Given the description of an element on the screen output the (x, y) to click on. 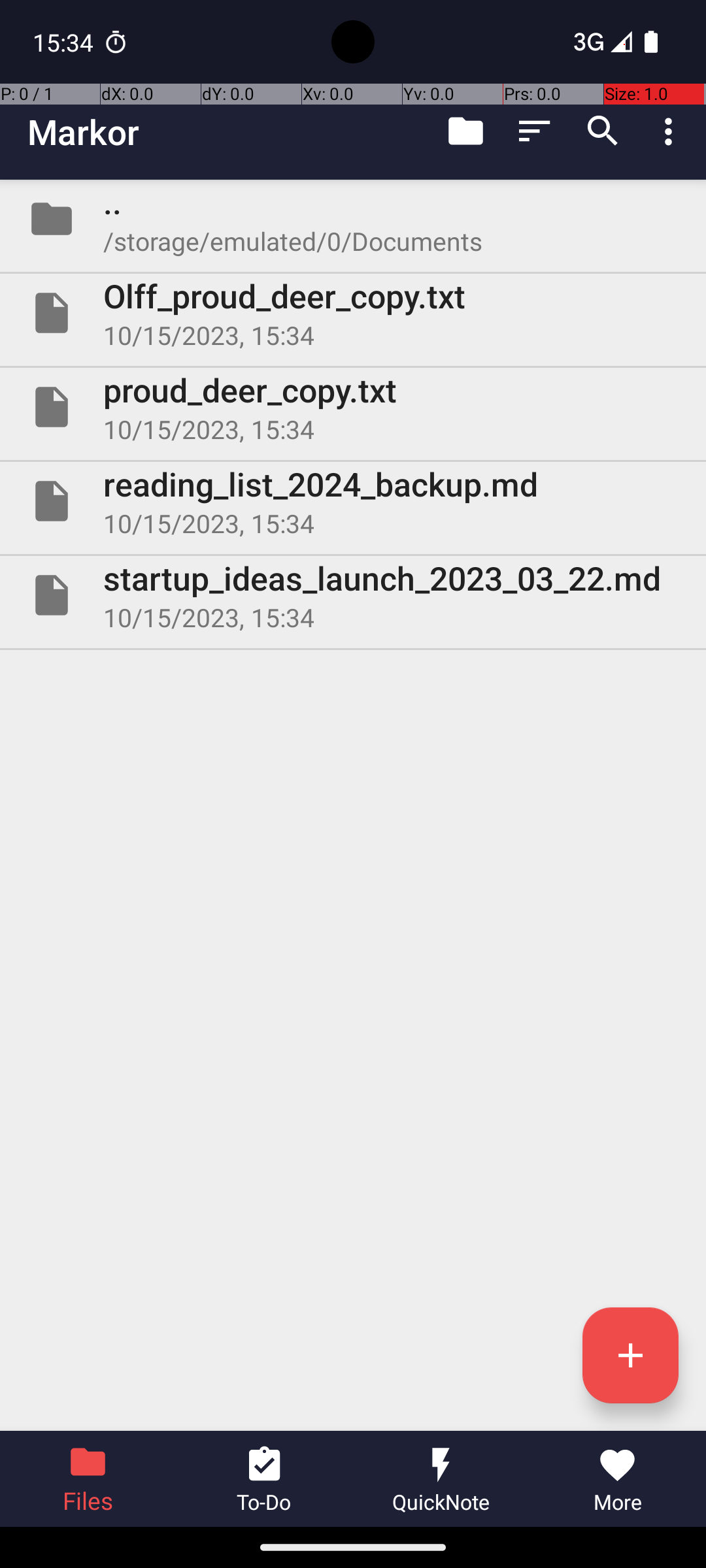
File Olff_proud_deer_copy.txt  Element type: android.widget.LinearLayout (353, 312)
File proud_deer_copy.txt  Element type: android.widget.LinearLayout (353, 406)
File reading_list_2024_backup.md  Element type: android.widget.LinearLayout (353, 500)
File startup_ideas_launch_2023_03_22.md  Element type: android.widget.LinearLayout (353, 594)
